Given the description of an element on the screen output the (x, y) to click on. 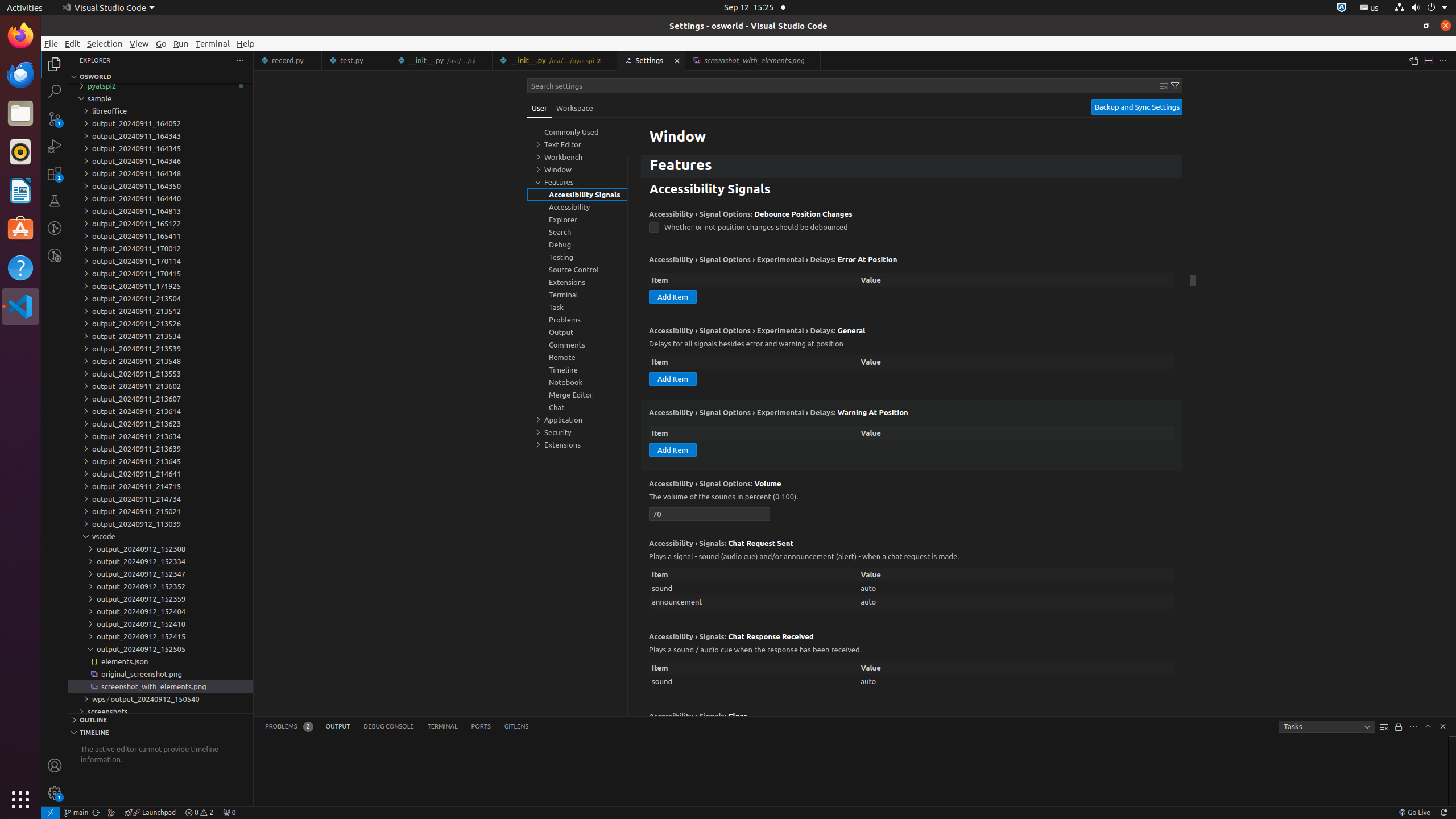
Go Element type: push-button (161, 43)
output_20240912_152347 Element type: tree-item (160, 573)
Search, group Element type: tree-item (577, 231)
Accessibility › Signal Options › Experimental › Delays Warning At Position. Element type: tree-item (911, 435)
Remote, group Element type: tree-item (577, 356)
